Given the description of an element on the screen output the (x, y) to click on. 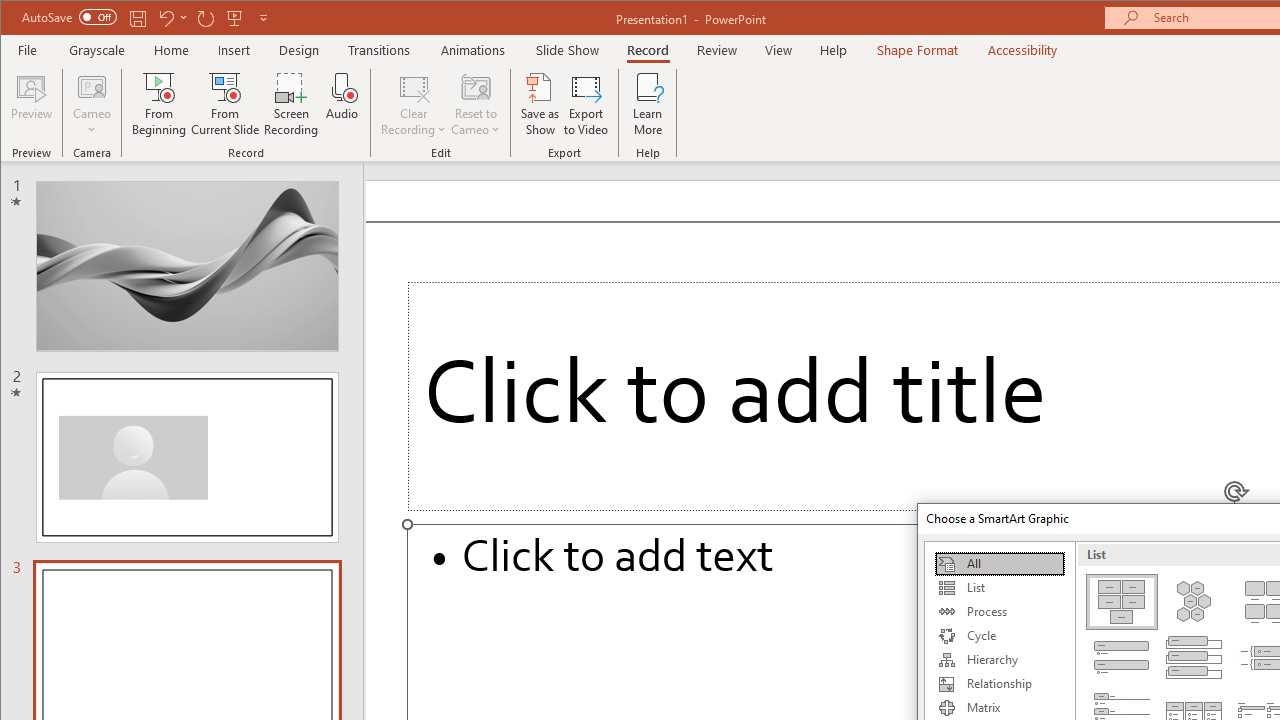
Alternating Hexagons (1194, 601)
Grayscale (97, 50)
List (999, 587)
Vertical Bullet List (1121, 658)
All (999, 564)
